Given the description of an element on the screen output the (x, y) to click on. 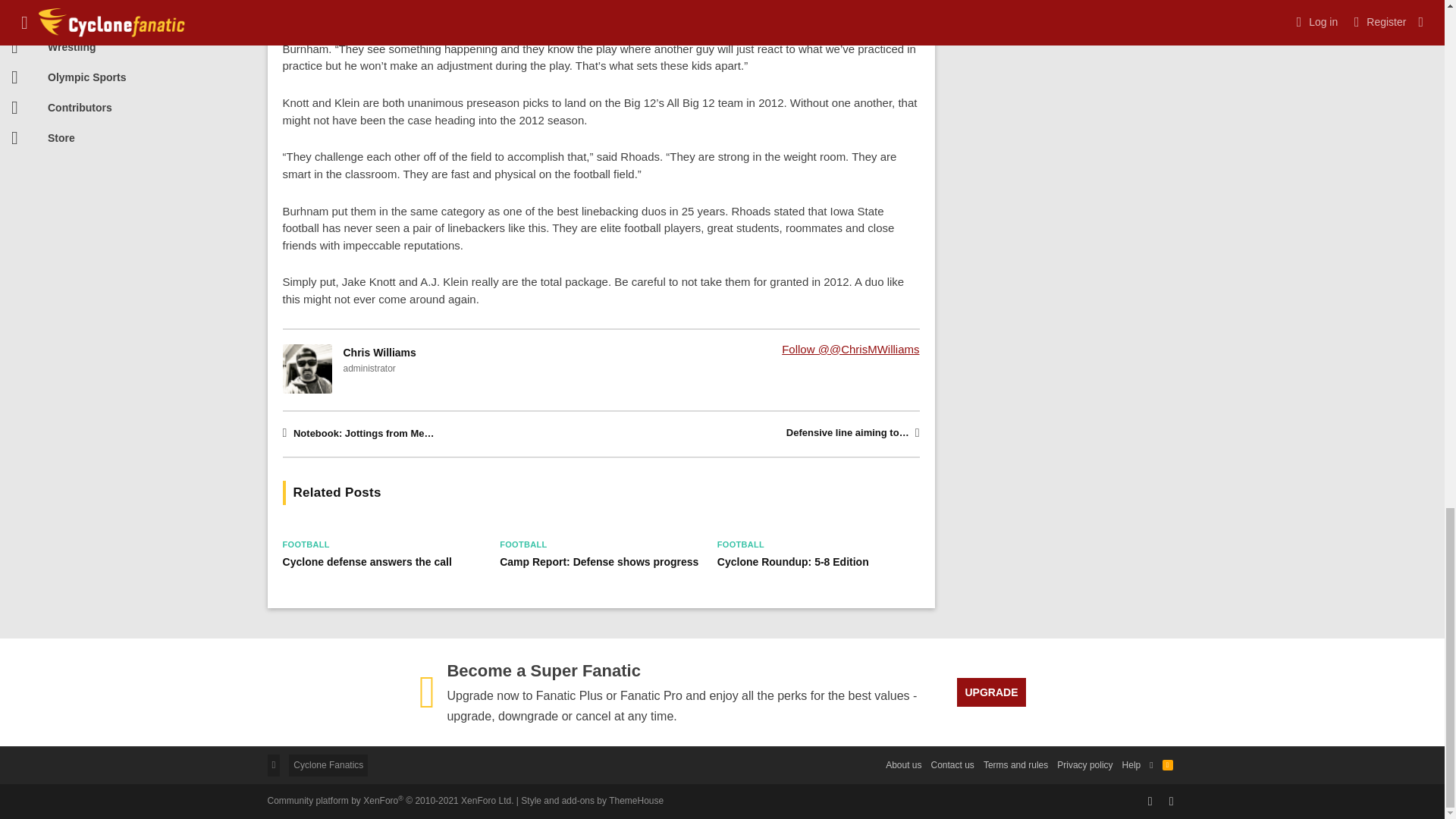
RSS (1167, 765)
